Given the description of an element on the screen output the (x, y) to click on. 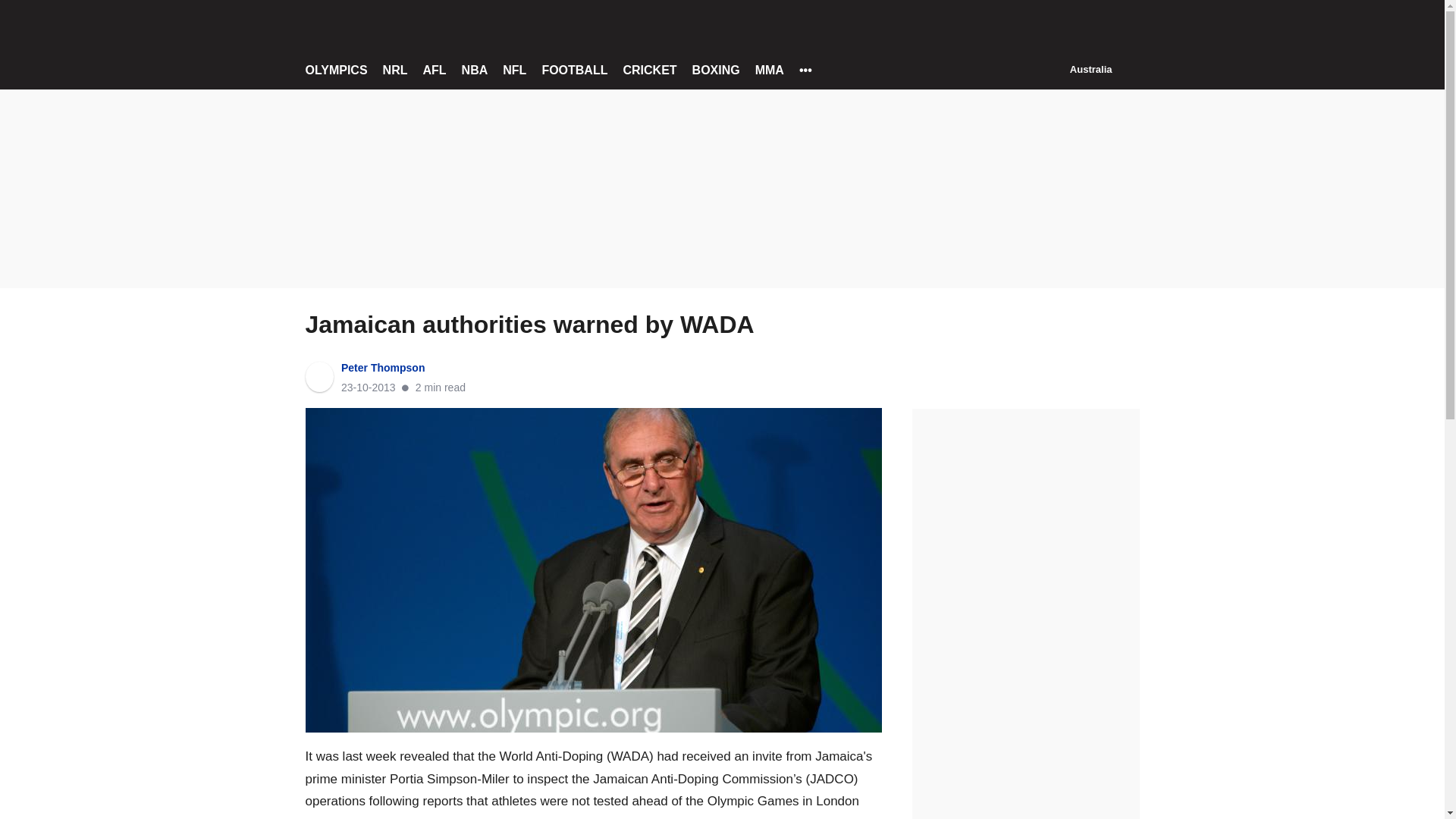
OLYMPICS (335, 70)
BOXING (716, 70)
AFL (433, 70)
NRL (394, 70)
MMA (769, 70)
CRICKET (650, 70)
NFL (513, 70)
NBA (474, 70)
FOOTBALL (574, 70)
